Given the description of an element on the screen output the (x, y) to click on. 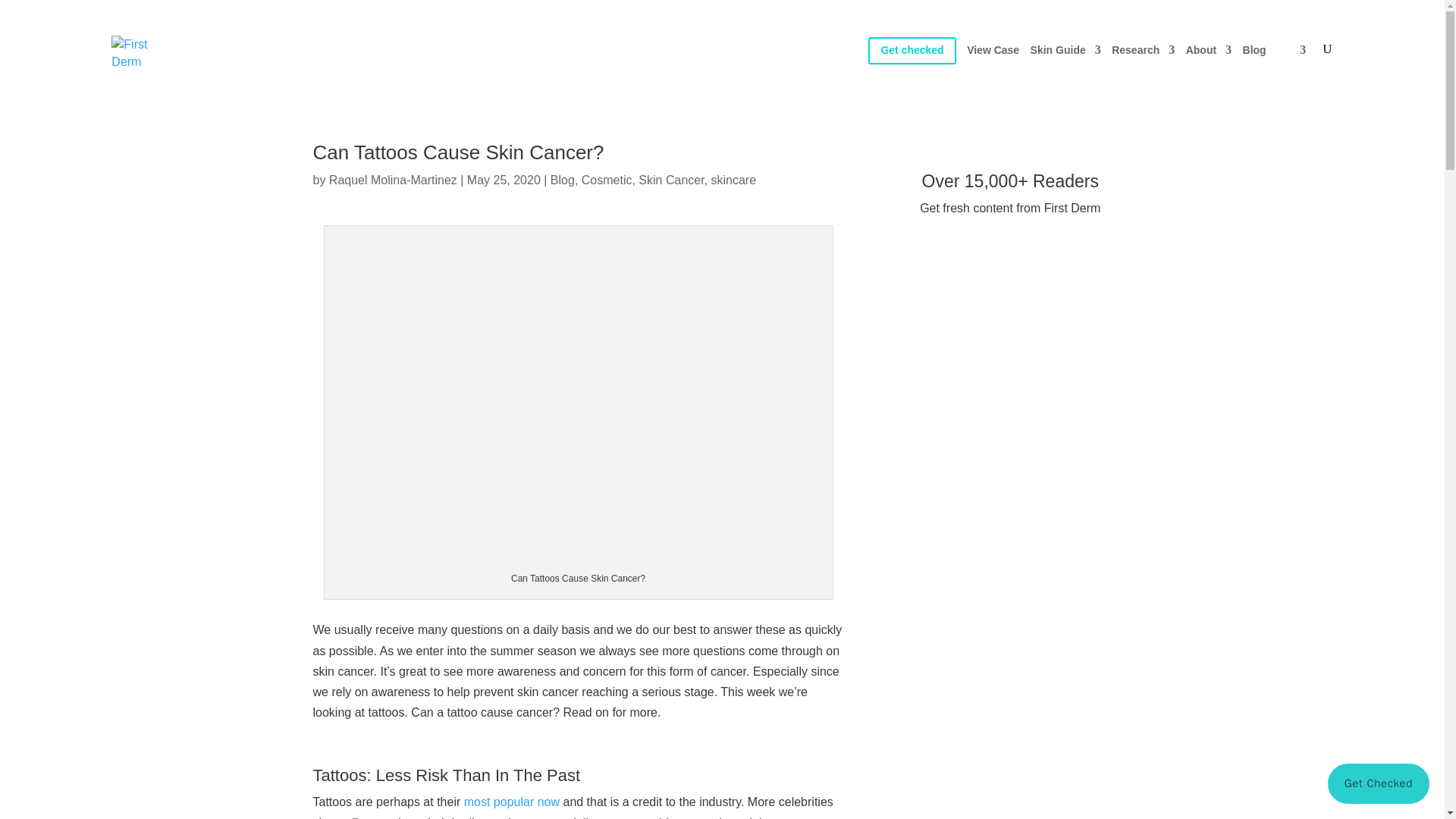
Get checked (911, 68)
Research (1143, 68)
View Case (992, 68)
Blog (562, 179)
About (1208, 68)
Skin Cancer (671, 179)
Cosmetic (605, 179)
most popular now (511, 801)
skincare (734, 179)
Posts by Raquel Molina-Martinez (393, 179)
